Given the description of an element on the screen output the (x, y) to click on. 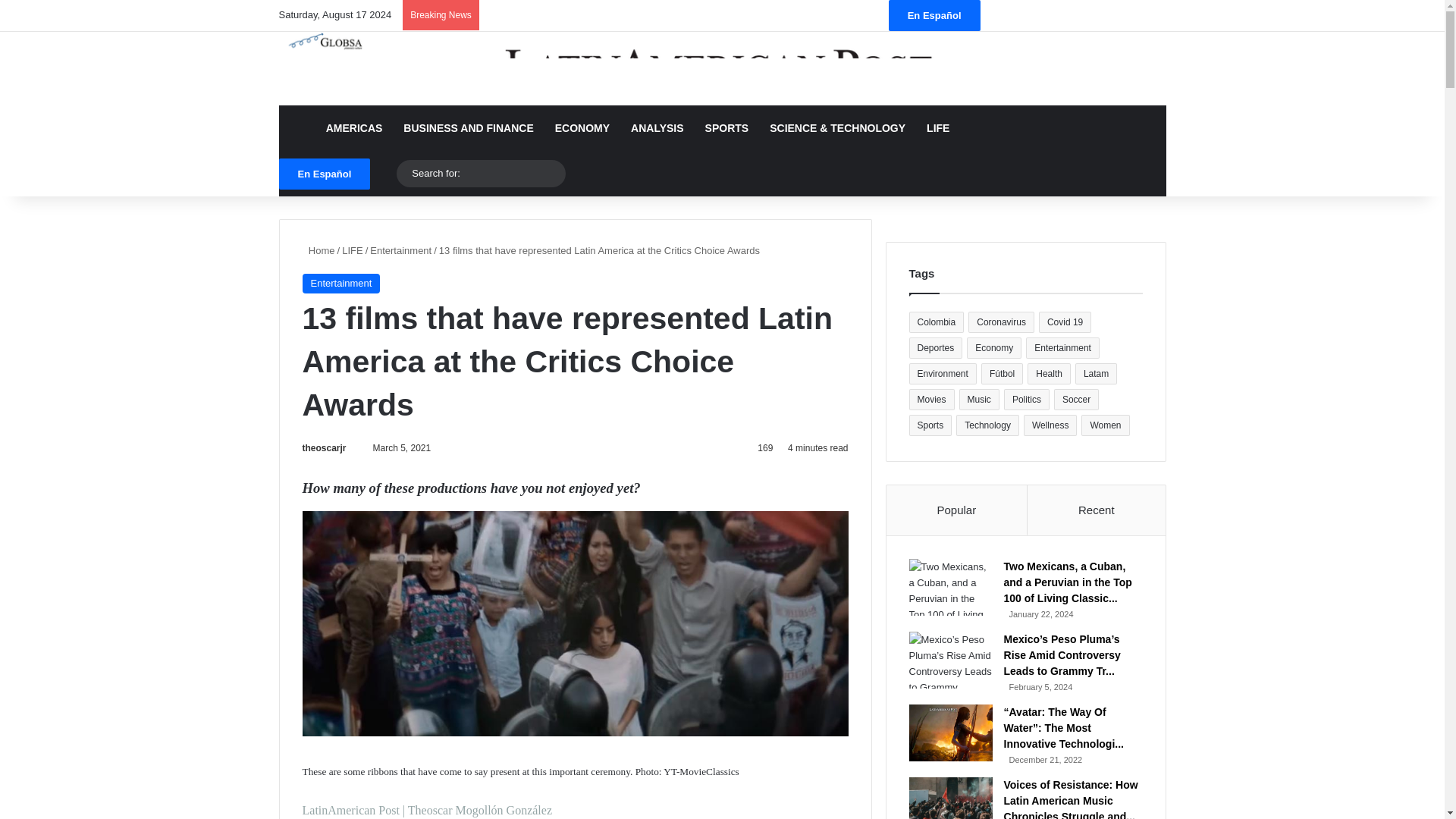
ECONOMY (582, 127)
Search for: (550, 173)
Home (317, 250)
LatinAmerican Post (722, 67)
Entertainment (340, 283)
Search for: (481, 172)
ANALYSIS (657, 127)
theoscarjr (323, 448)
LIFE (352, 250)
BUSINESS AND FINANCE (468, 127)
